Given the description of an element on the screen output the (x, y) to click on. 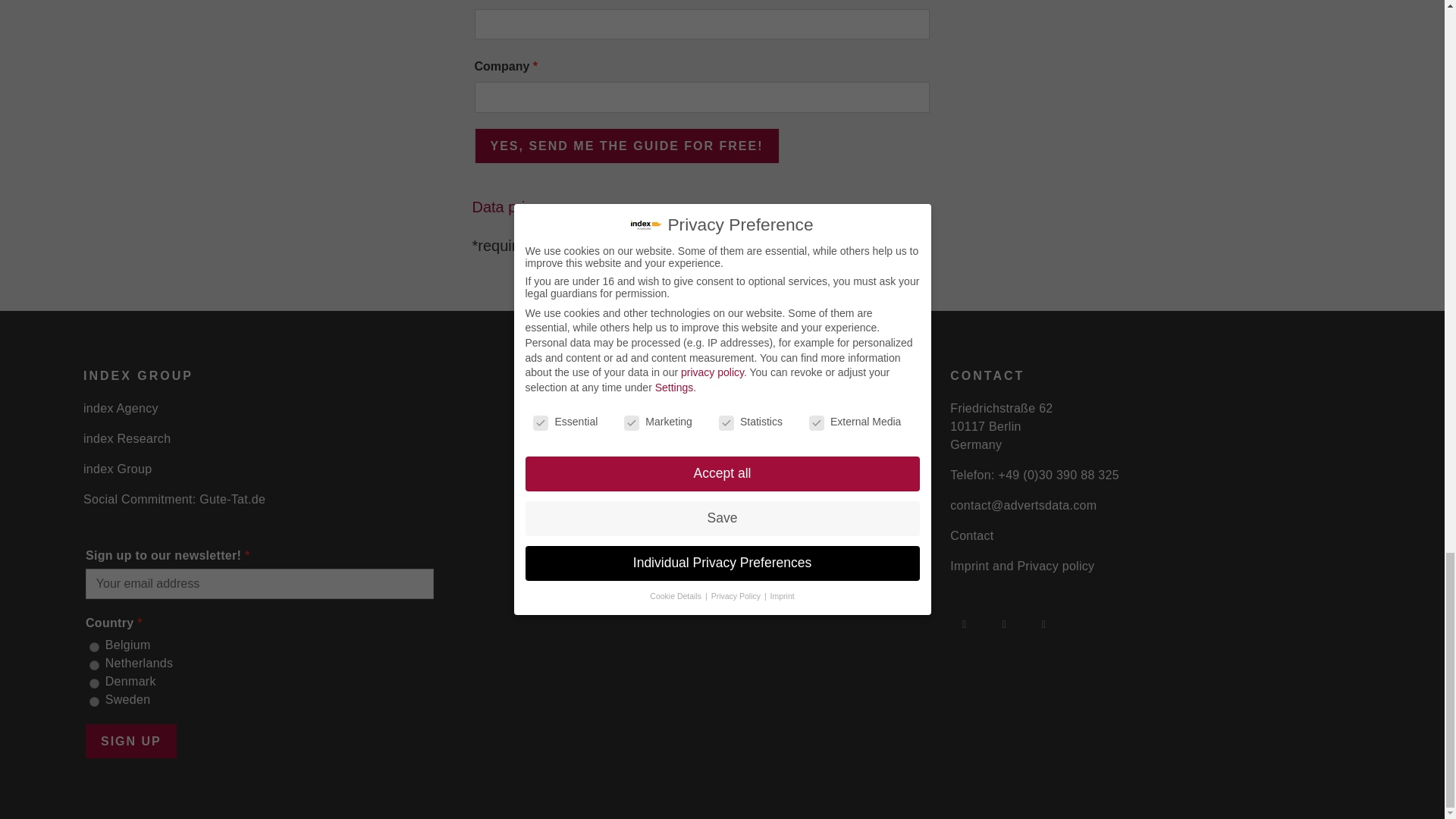
Belgium (93, 646)
Denmark (93, 683)
Sweden (93, 701)
Netherlands (93, 665)
